Given the description of an element on the screen output the (x, y) to click on. 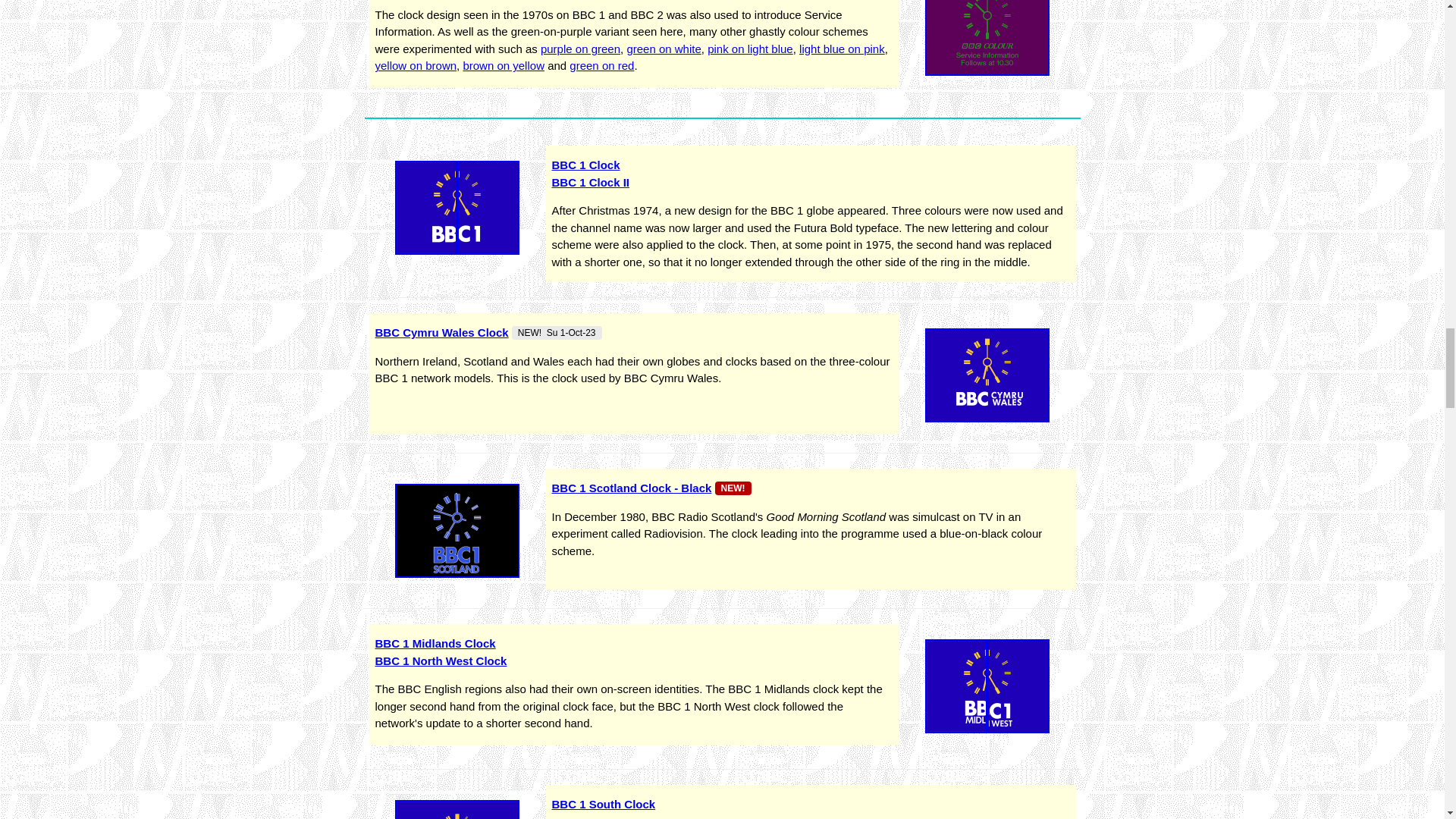
BBC Colour Service Information Clock (986, 38)
